Given the description of an element on the screen output the (x, y) to click on. 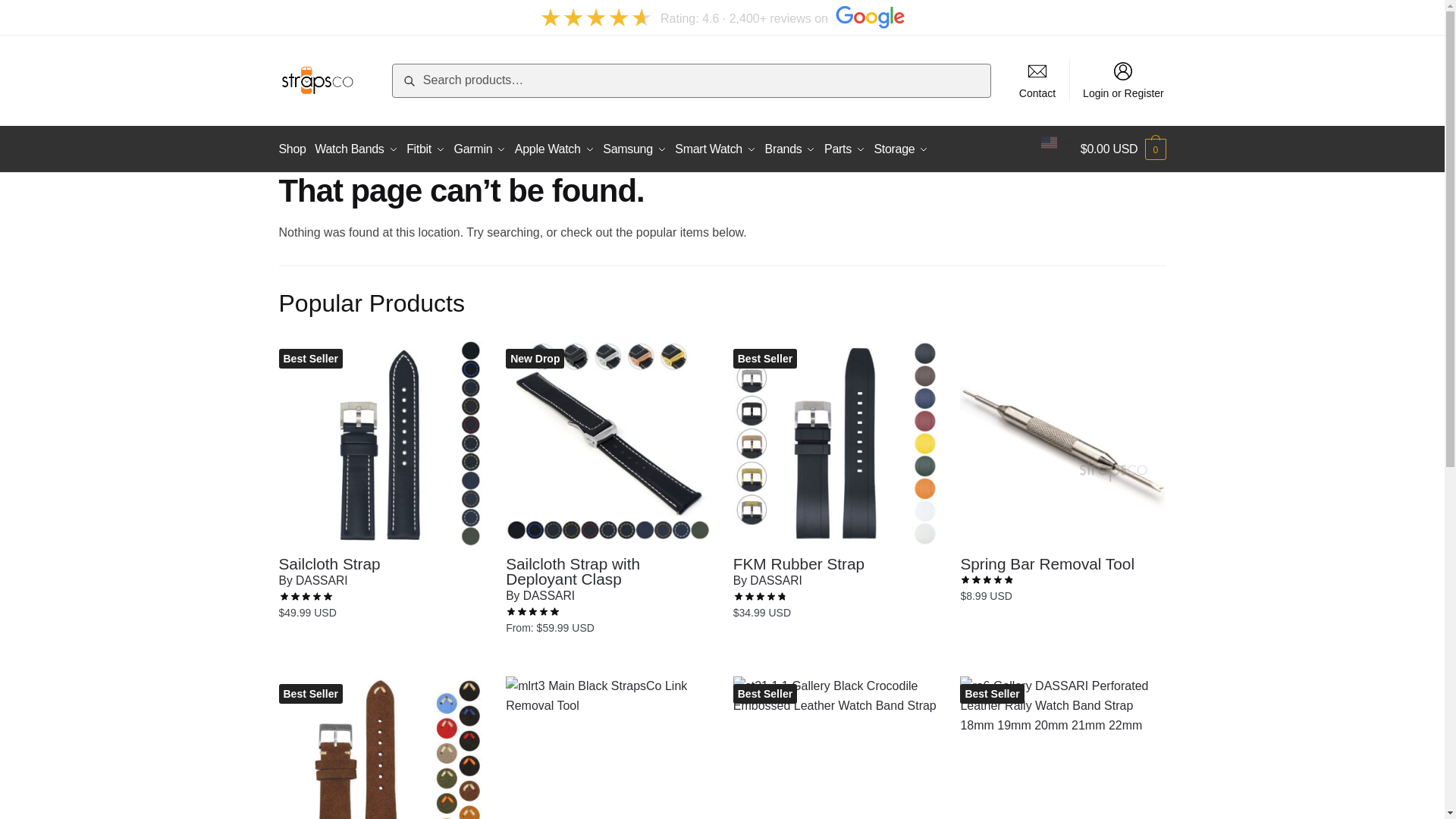
Search (415, 74)
View your shopping cart (1123, 148)
Fitbit (424, 148)
Skip to navigation (48, 9)
Login or Register (1123, 80)
Watch Bands (355, 148)
Contact (1037, 80)
Skip to content (40, 9)
